Given the description of an element on the screen output the (x, y) to click on. 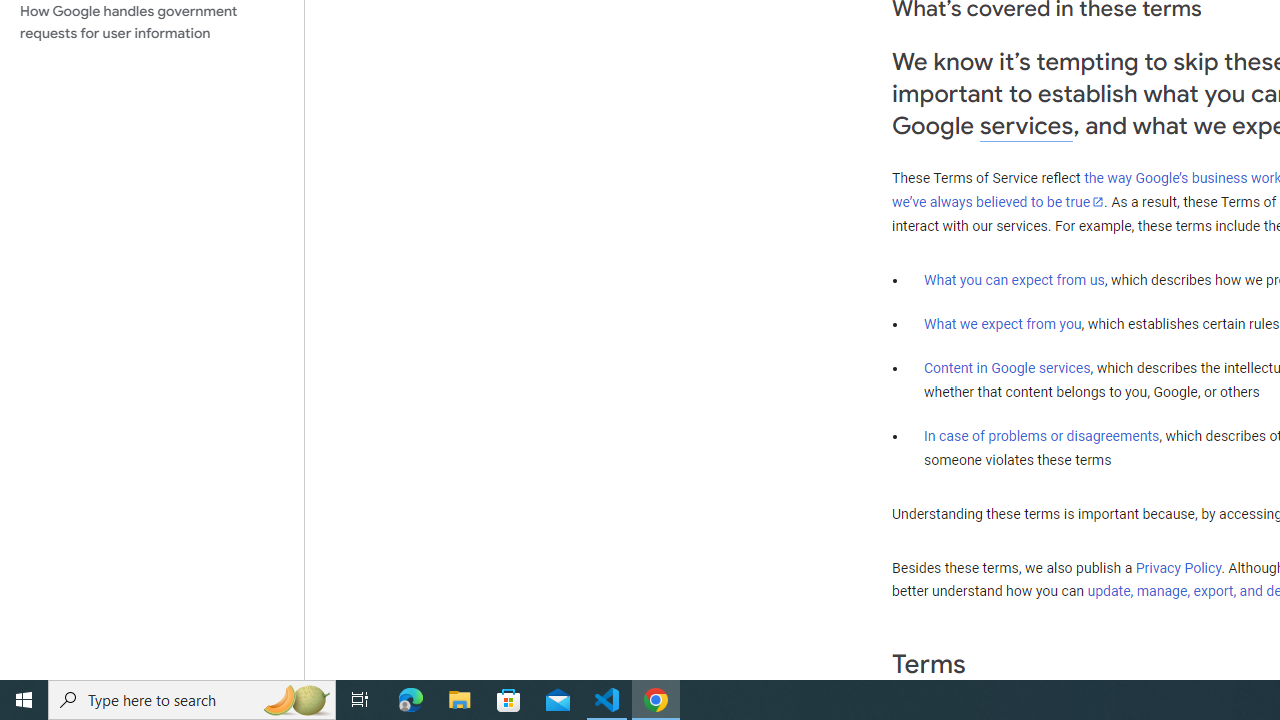
services (1026, 125)
In case of problems or disagreements (1041, 435)
Content in Google services (1007, 368)
What we expect from you (1002, 323)
What you can expect from us (1014, 279)
